Given the description of an element on the screen output the (x, y) to click on. 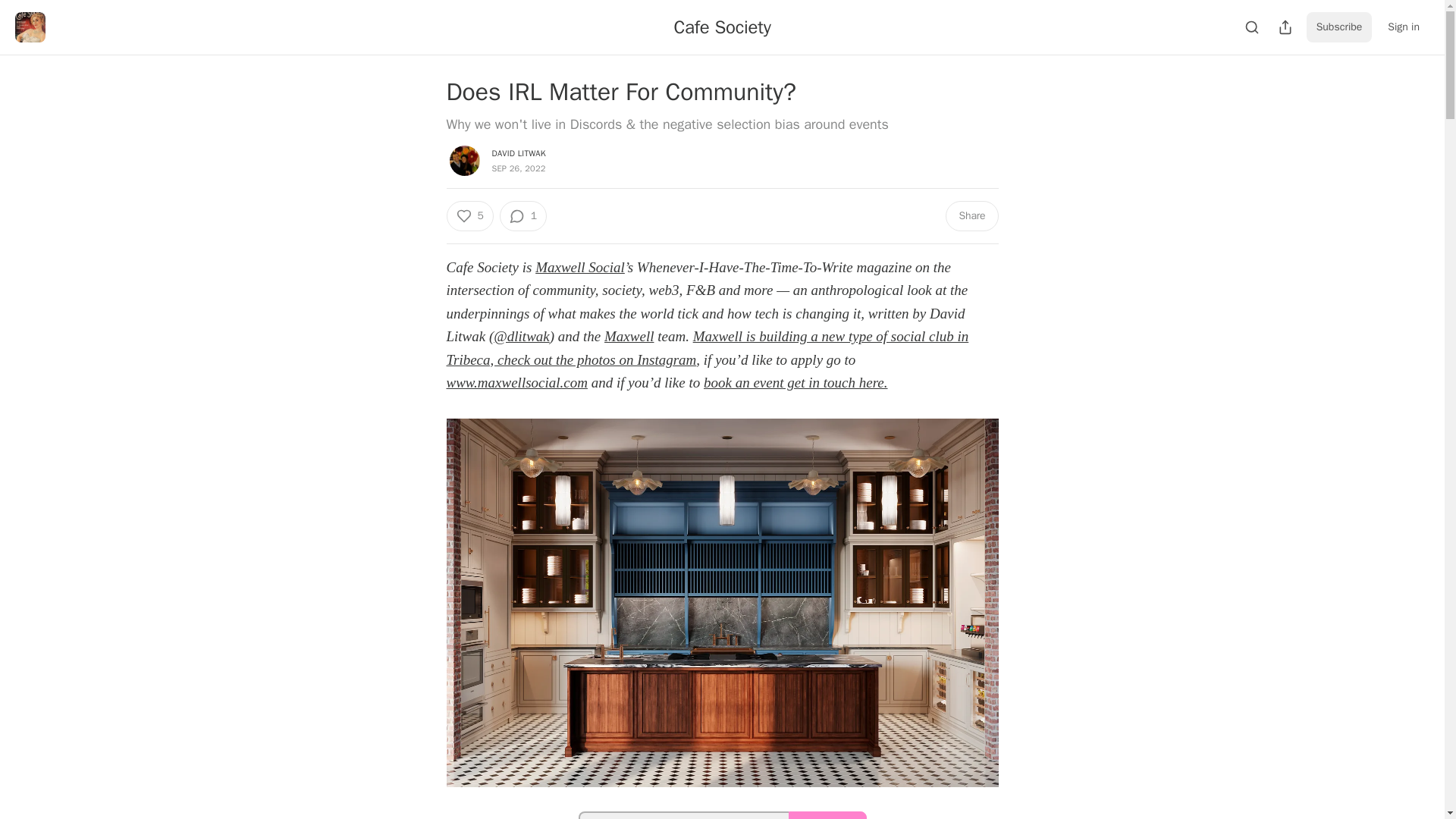
1 (523, 215)
DAVID LITWAK (518, 153)
book an event get in touch here. (795, 382)
Cafe Society (721, 26)
Maxwell (628, 335)
www.maxwellsocial.com (515, 382)
Subscribe (1339, 27)
Share (970, 215)
5 (469, 215)
